Given the description of an element on the screen output the (x, y) to click on. 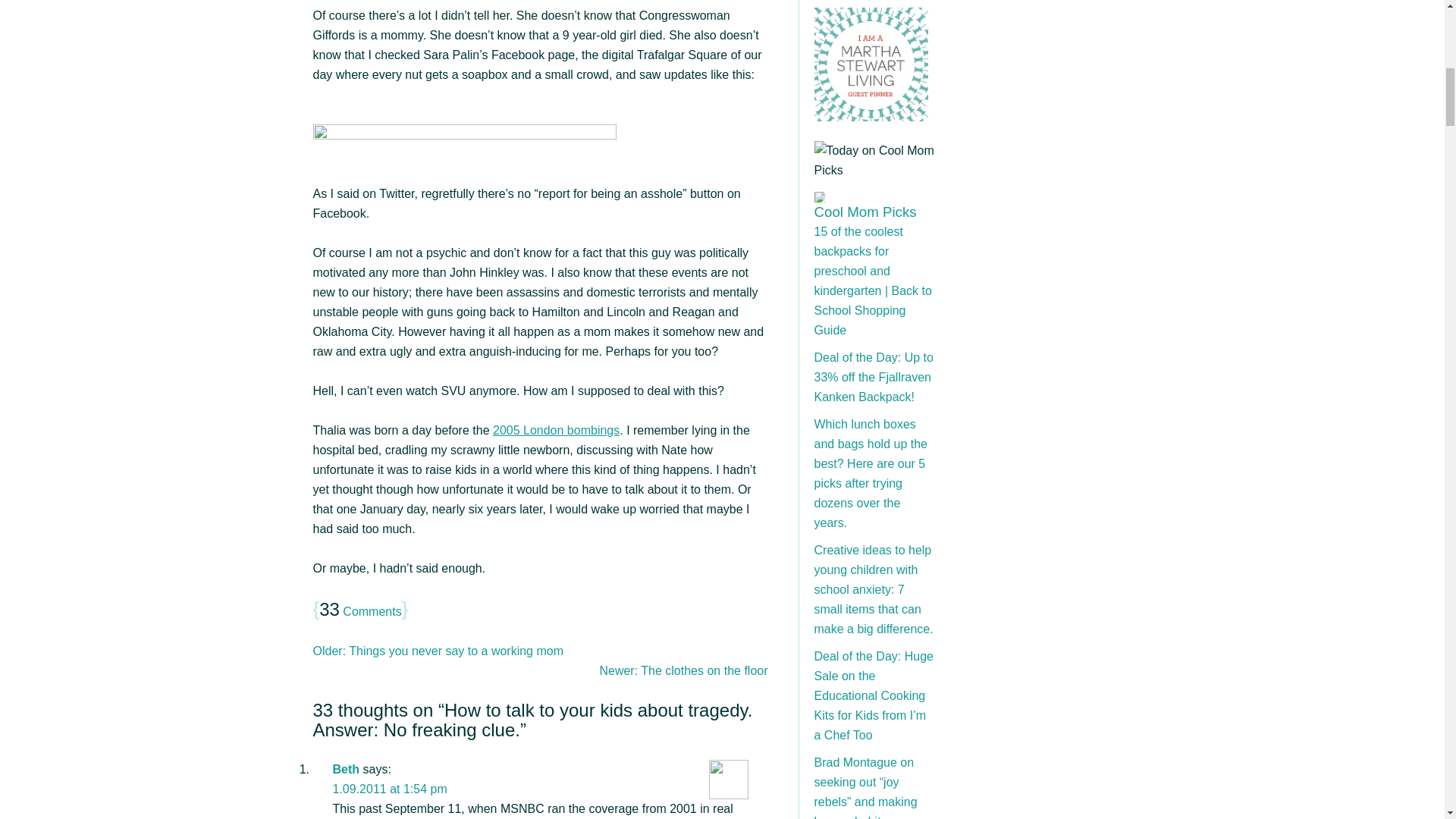
33 Comments (359, 611)
2005 London bombings (556, 430)
1.09.2011 at 1:54 pm (388, 788)
Beth (345, 768)
